Given the description of an element on the screen output the (x, y) to click on. 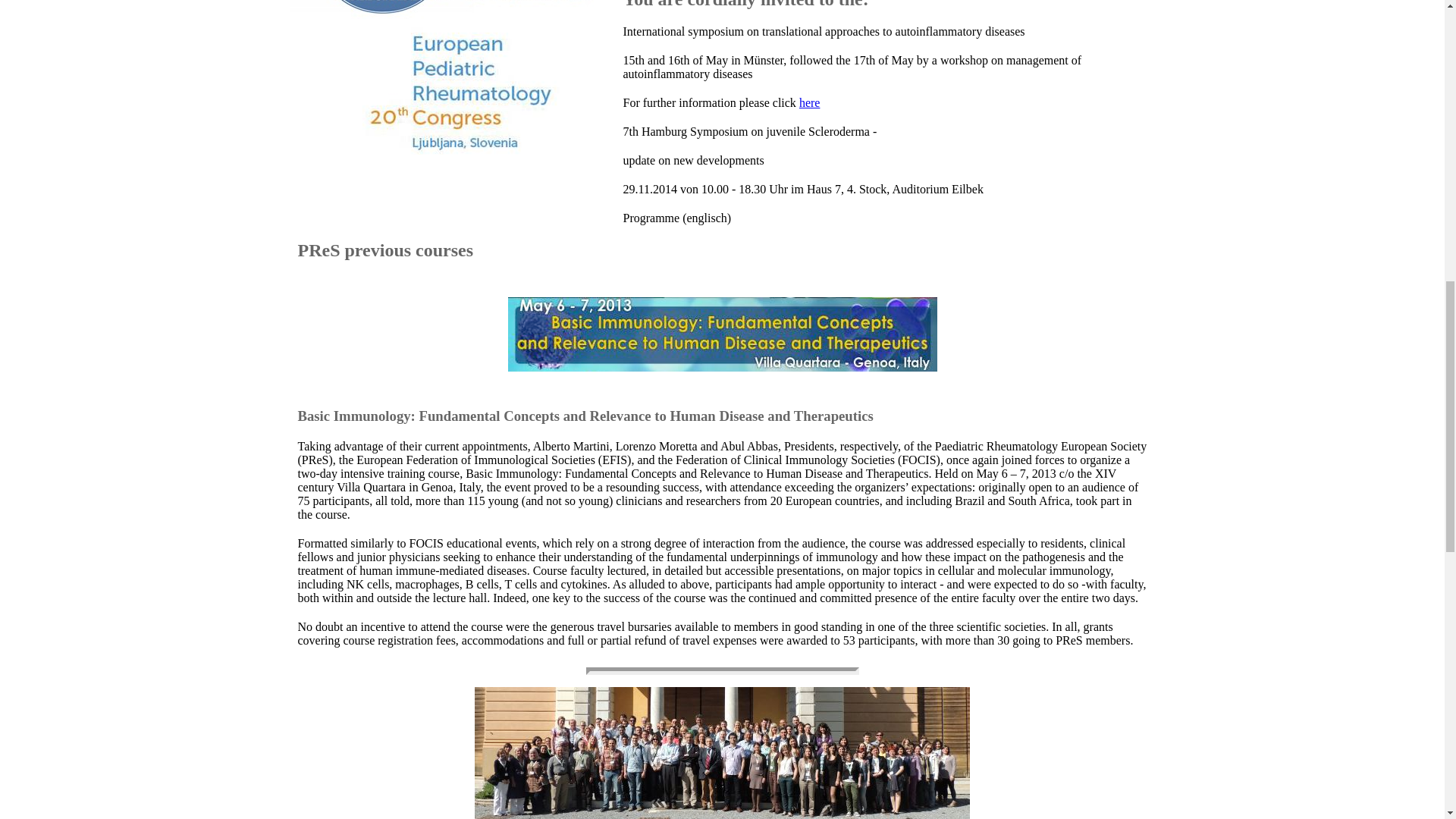
here (810, 102)
